Given the description of an element on the screen output the (x, y) to click on. 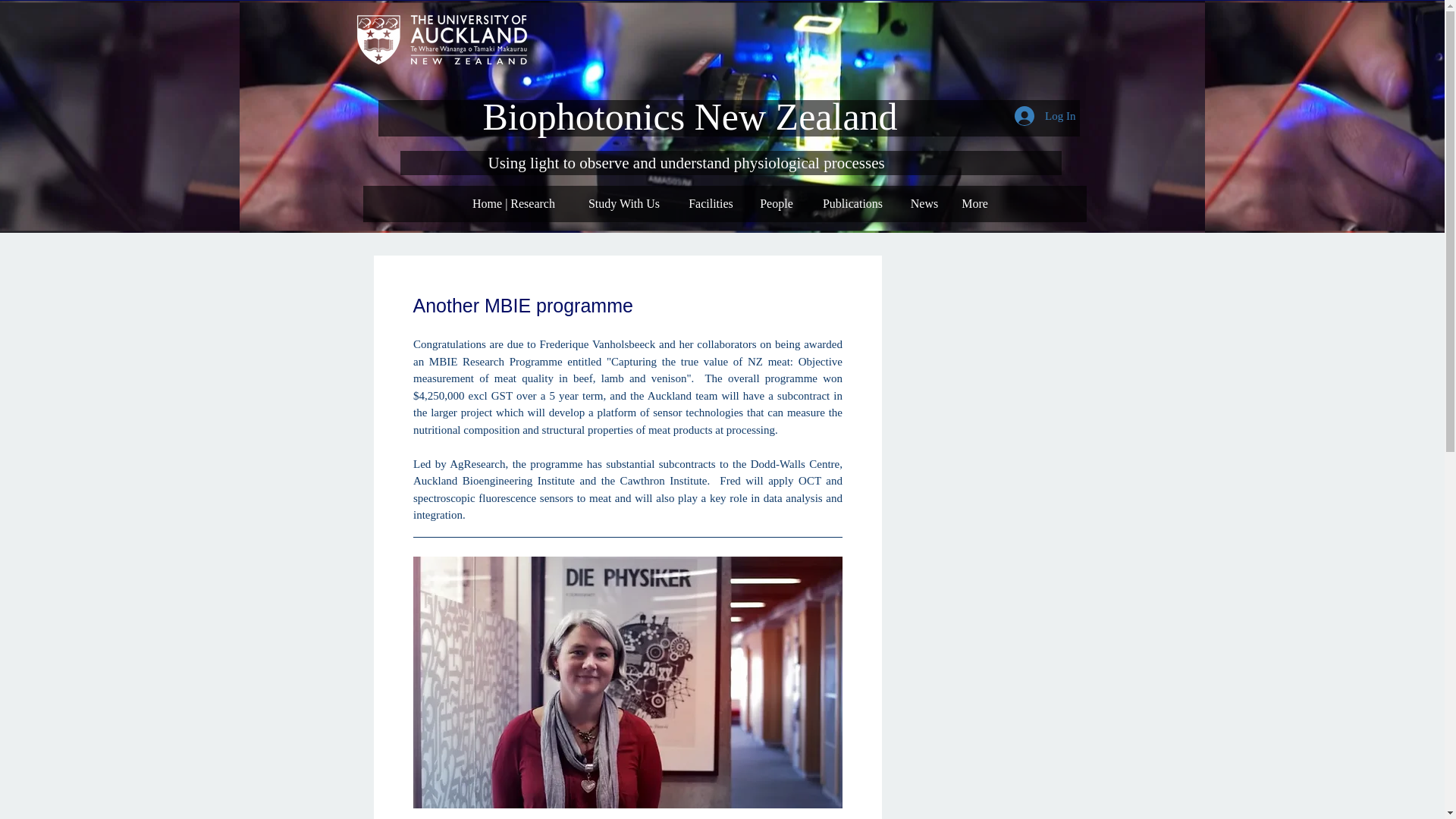
Publications (852, 203)
People (775, 203)
Biophotonics  (587, 116)
Facilities (710, 203)
Log In (1045, 115)
News (924, 203)
Study With Us (624, 203)
